Given the description of an element on the screen output the (x, y) to click on. 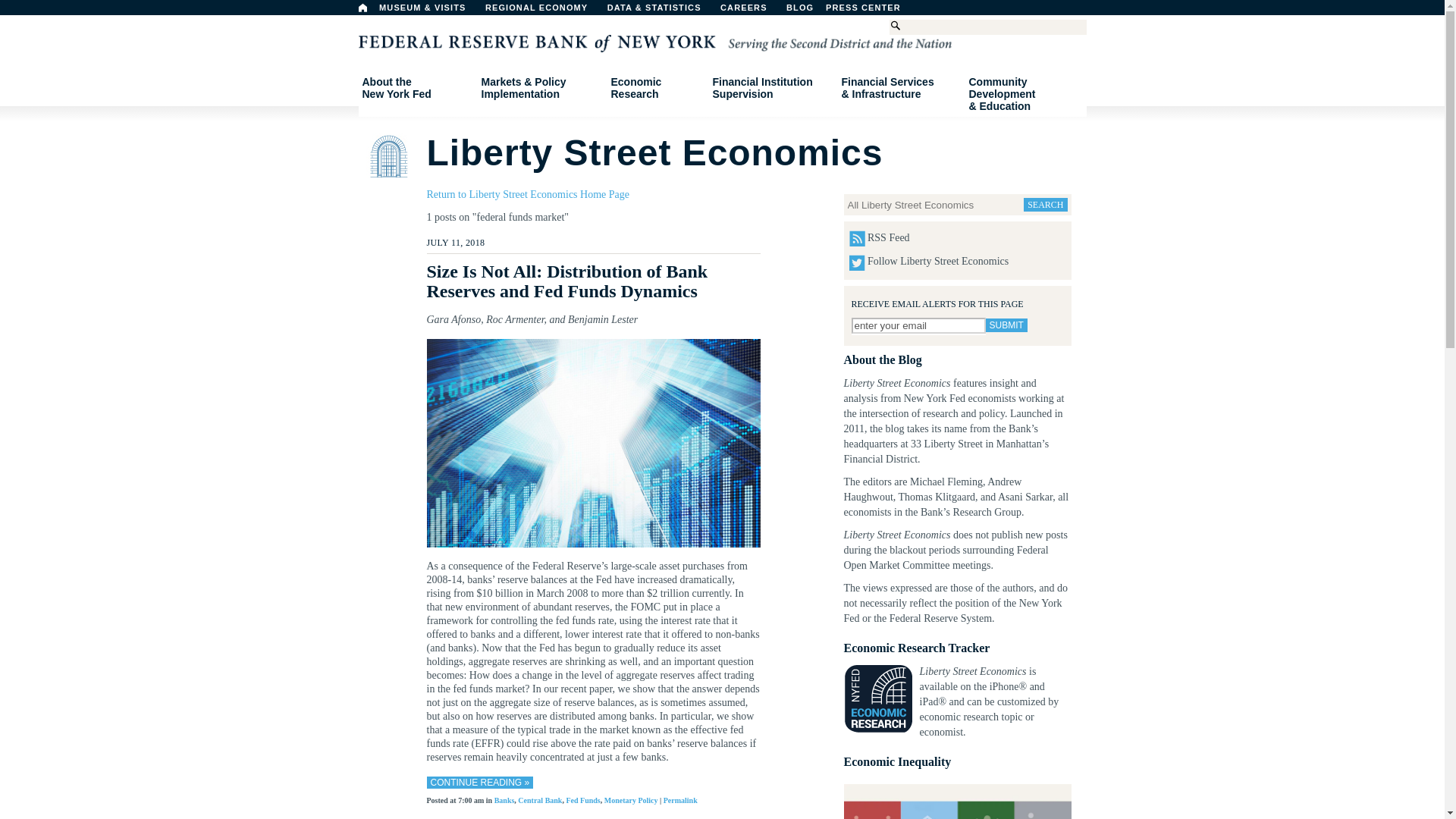
CAREERS (751, 11)
enter your email (917, 325)
Home (415, 87)
REGIONAL ECONOMY (362, 8)
PRESS CENTER (543, 11)
BLOG (870, 11)
Submit (839, 11)
